Given the description of an element on the screen output the (x, y) to click on. 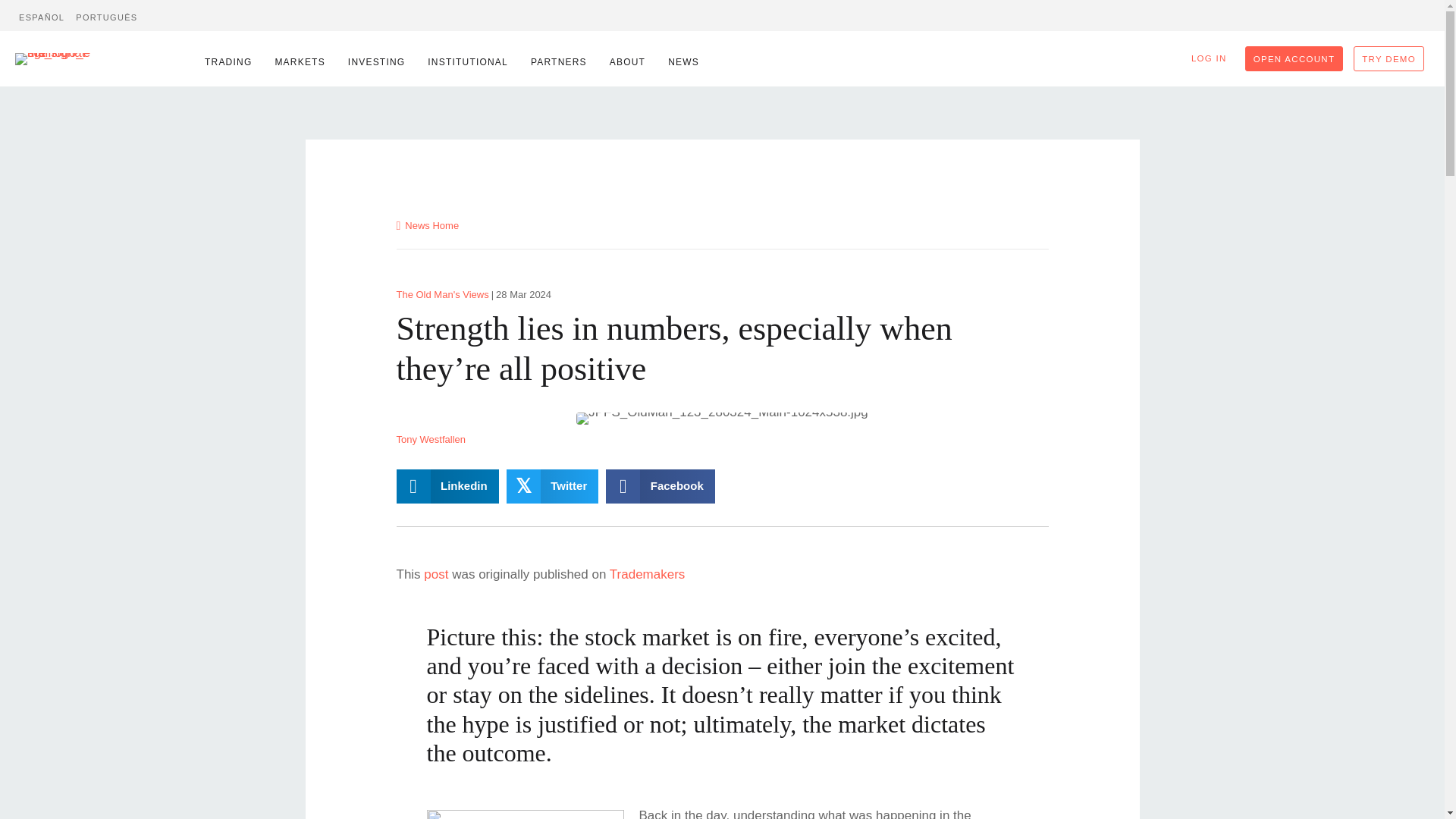
NEWS (679, 61)
MARKETS (295, 61)
INSTITUTIONAL (463, 61)
INVESTING (372, 61)
TRADING (224, 61)
ABOUT (623, 61)
PARTNERS (554, 61)
